Given the description of an element on the screen output the (x, y) to click on. 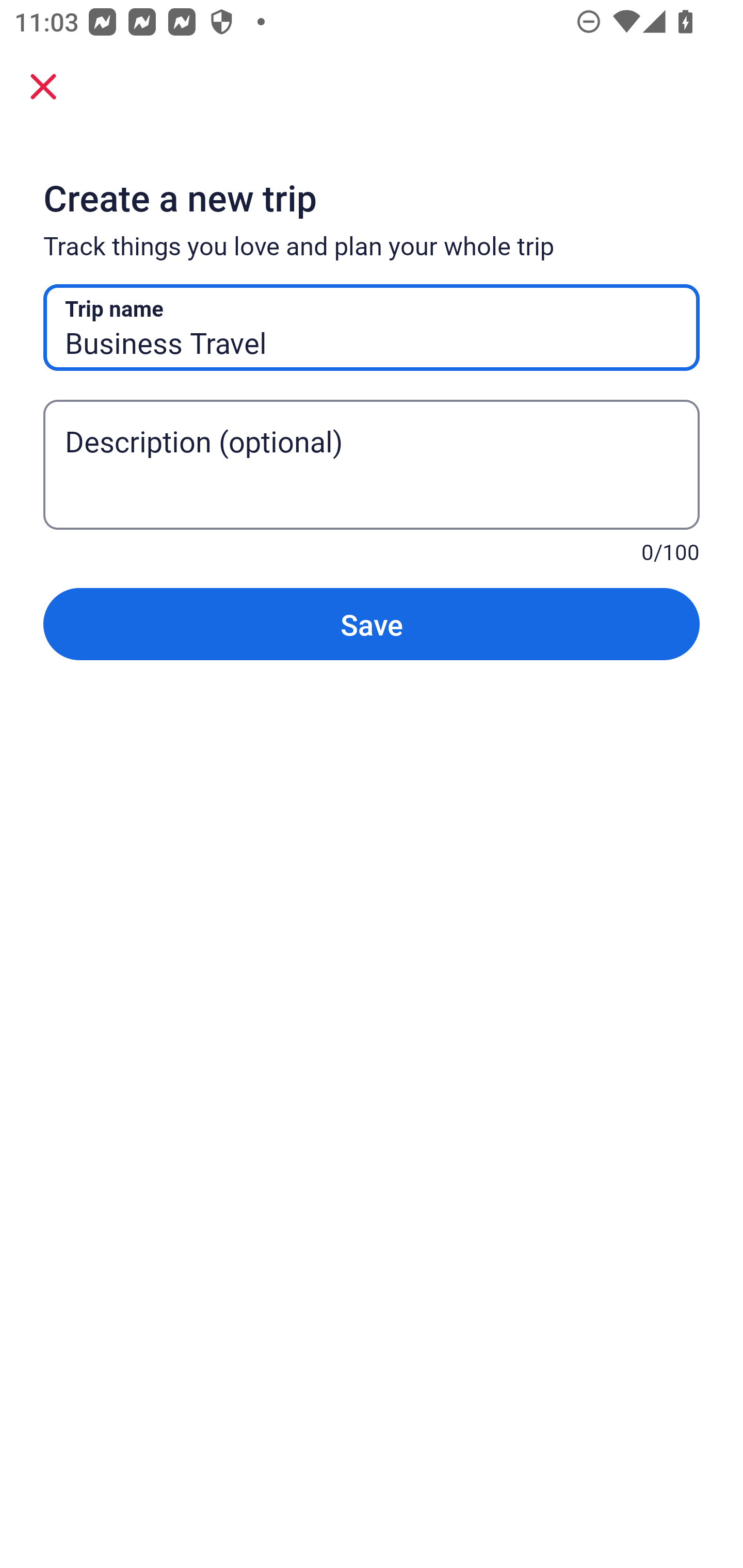
Close (43, 86)
Business Travel Trip name Trip name (371, 327)
Save Button Save (371, 624)
